Given the description of an element on the screen output the (x, y) to click on. 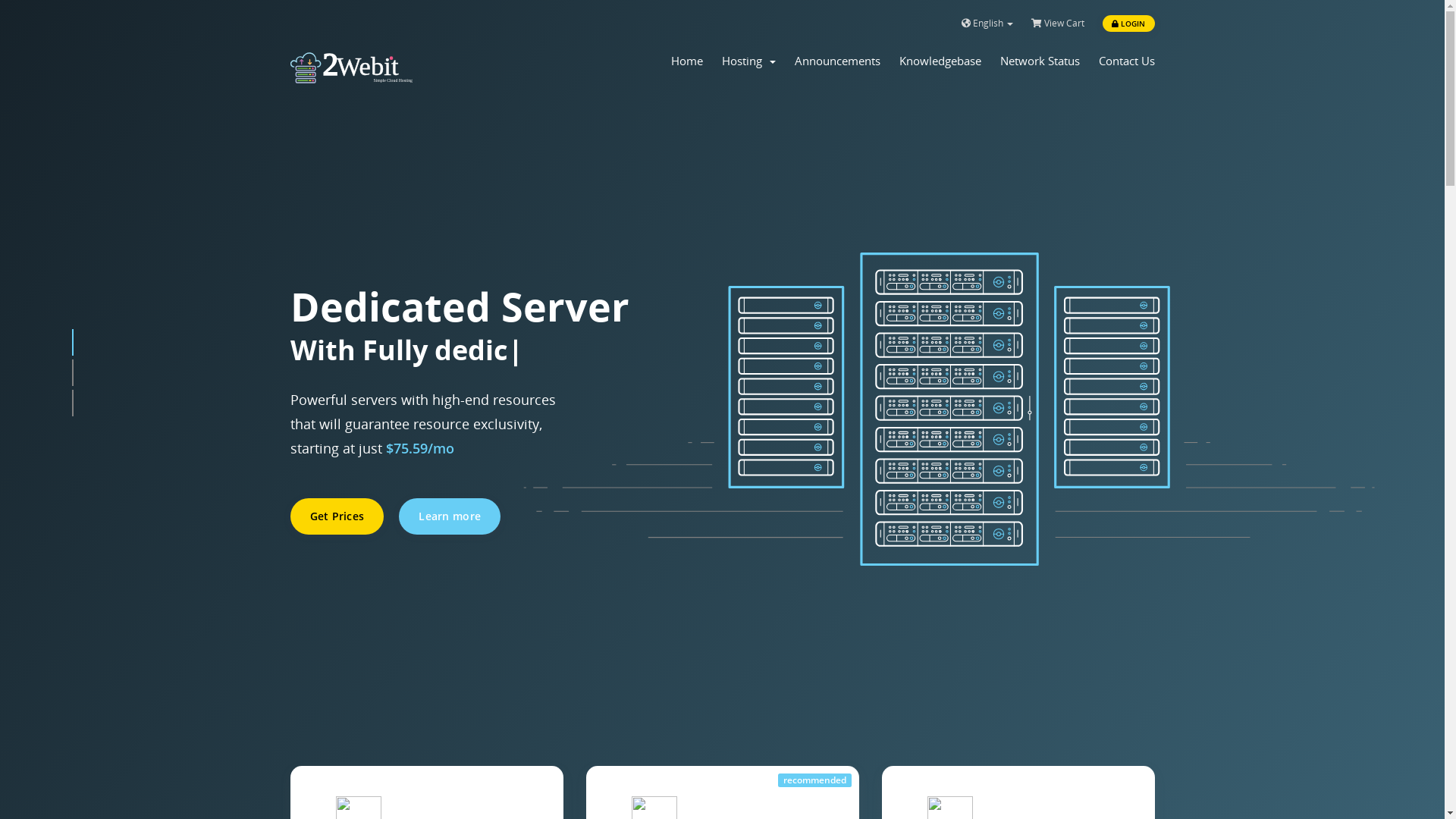
Learn more Element type: text (449, 516)
LOGIN Element type: text (1128, 23)
Contact Us Element type: text (1126, 60)
Knowledgebase Element type: text (940, 60)
Network Status Element type: text (1039, 60)
Get Prices Element type: text (336, 516)
Hosting   Element type: text (748, 60)
English Element type: text (987, 23)
View Cart Element type: text (1057, 23)
Home Element type: text (686, 60)
Announcements Element type: text (837, 60)
